Given the description of an element on the screen output the (x, y) to click on. 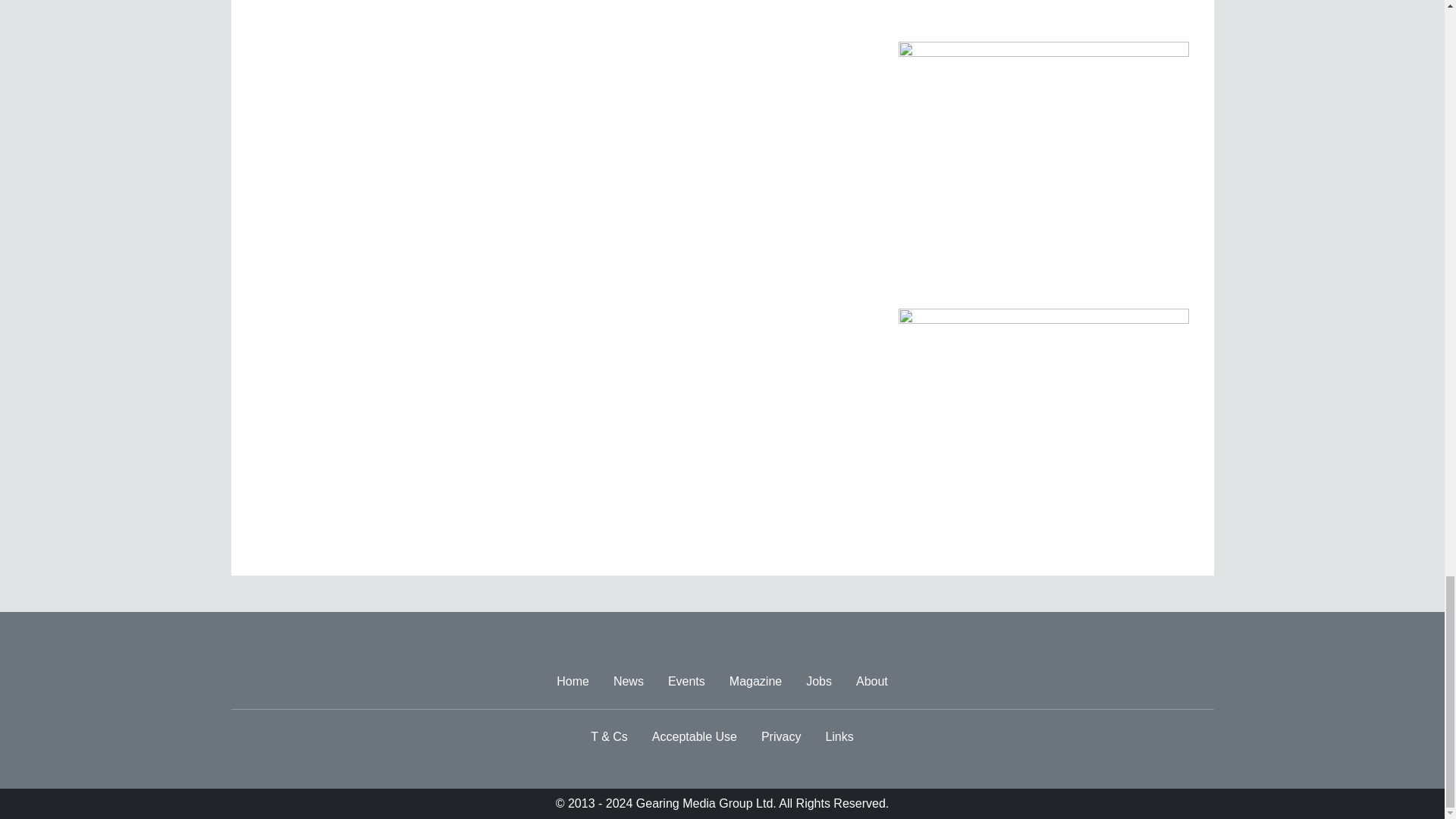
News (628, 681)
Jobs (818, 681)
Home (572, 681)
Links (838, 736)
Magazine (755, 681)
Acceptable Use (694, 736)
Privacy (780, 736)
About (871, 681)
Events (686, 681)
